Given the description of an element on the screen output the (x, y) to click on. 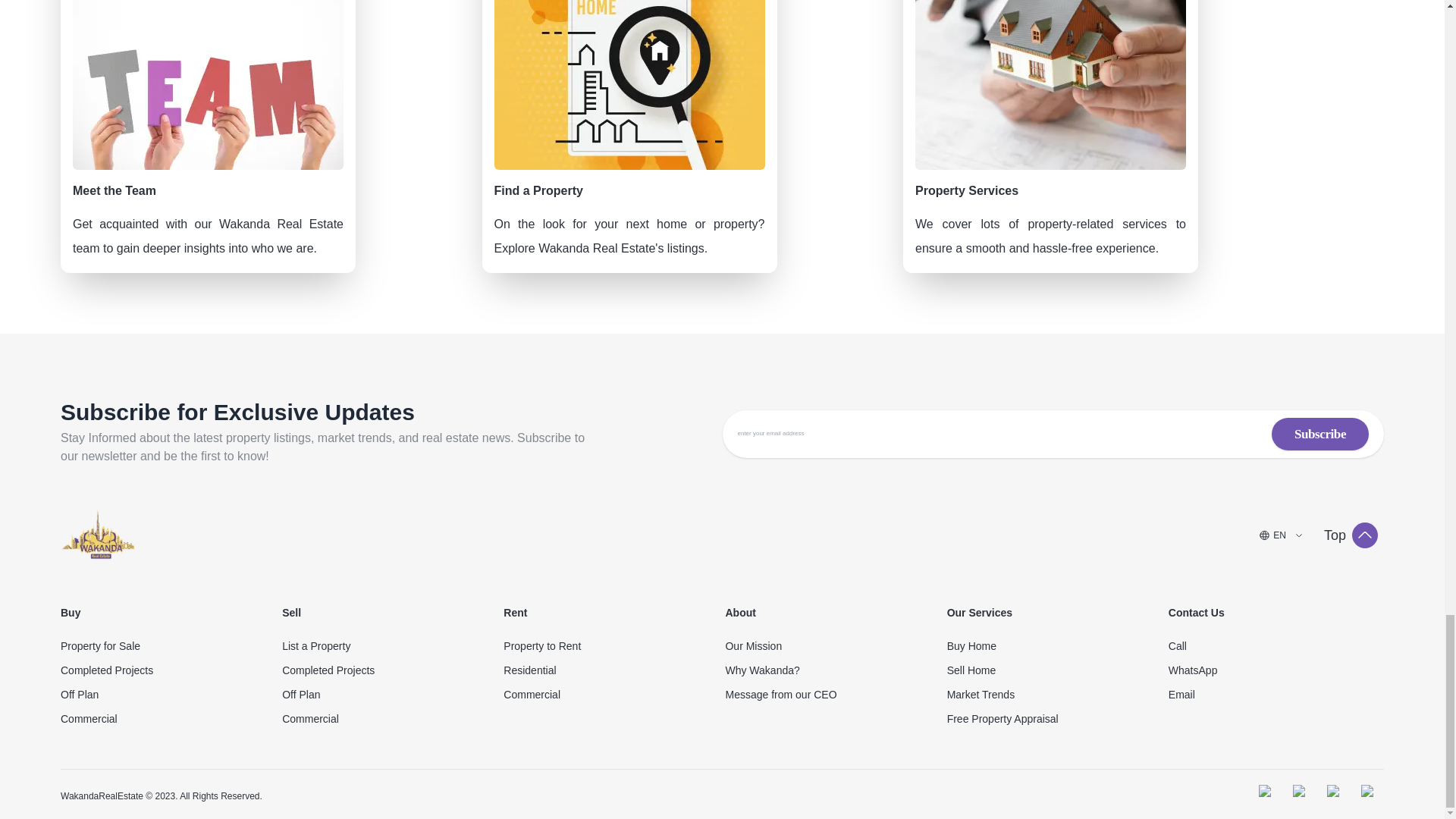
Email (1276, 694)
Free Property Appraisal (1054, 718)
Property to Rent (611, 645)
Commercial (389, 718)
Completed Projects (168, 670)
Our Mission (832, 645)
Message from our CEO (832, 694)
Buy Home (1054, 645)
Completed Projects (389, 670)
List a Property (389, 645)
